Given the description of an element on the screen output the (x, y) to click on. 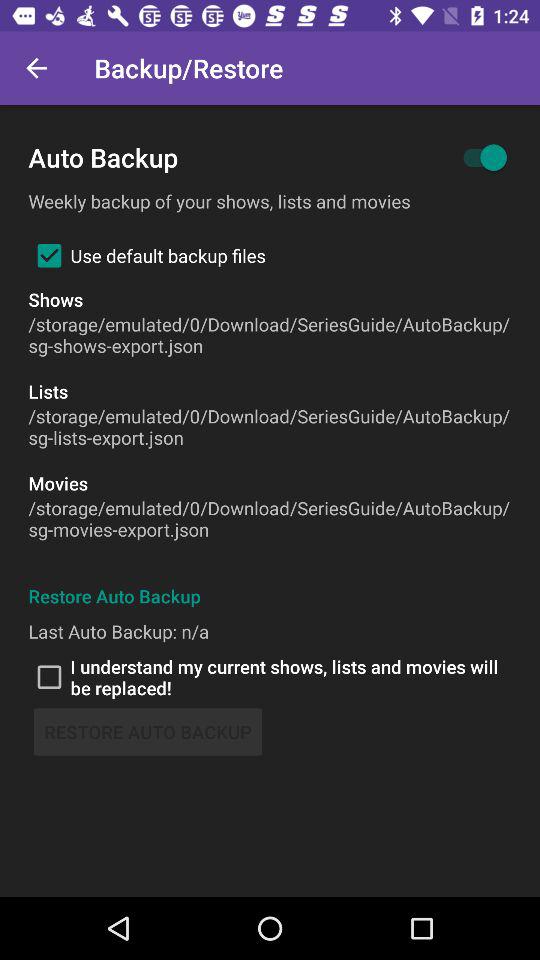
swipe to the use default backup (146, 255)
